Given the description of an element on the screen output the (x, y) to click on. 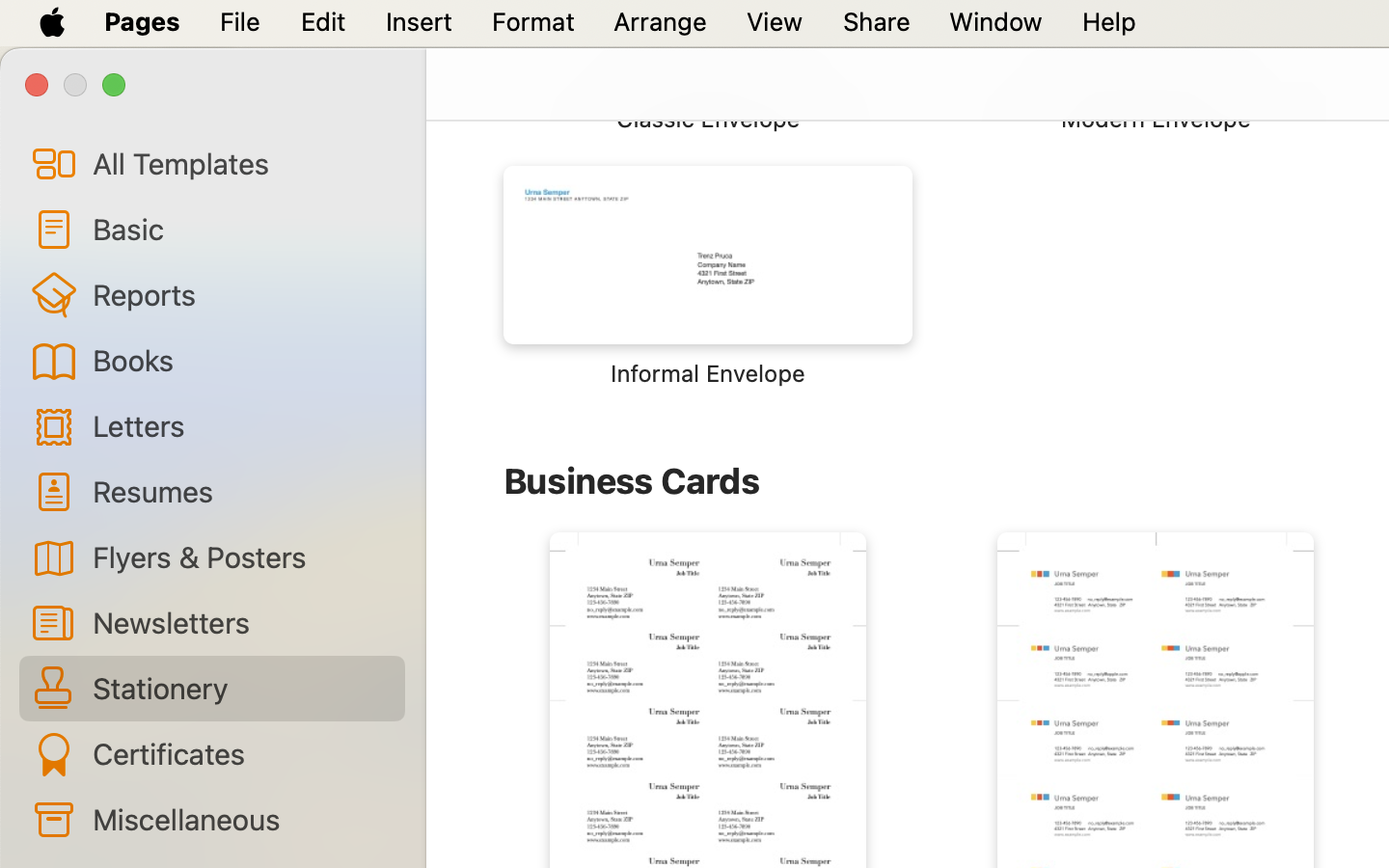
Basic Element type: AXStaticText (240, 228)
‎⁨Informal Envelope⁩ Element type: AXButton (707, 276)
Letters Element type: AXStaticText (240, 424)
Resumes Element type: AXStaticText (240, 490)
Stationery Element type: AXStaticText (240, 687)
